Given the description of an element on the screen output the (x, y) to click on. 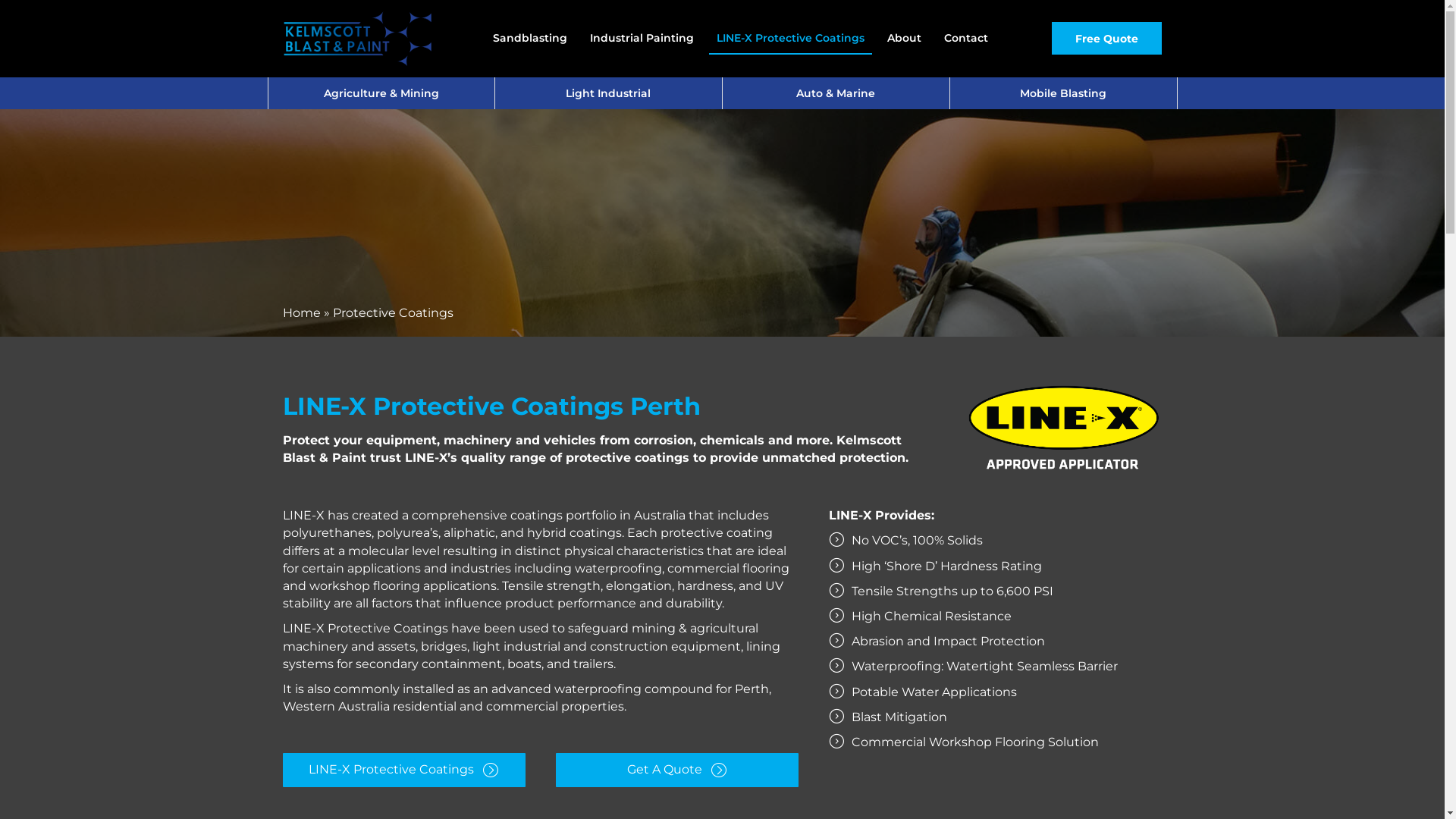
About Element type: text (903, 37)
Mobile Blasting Element type: text (1062, 93)
Sandblasting Element type: text (529, 37)
LINE-X Approved Applicator White Element type: hover (1062, 429)
LINE-X Protective Coatings Element type: text (790, 37)
LINE-X Protective Coatings Element type: text (403, 770)
Get A Quote Element type: text (676, 770)
Kelmscott Blast and Paint_logo Element type: hover (357, 38)
Light Industrial Element type: text (607, 93)
Auto & Marine Element type: text (835, 93)
Home Element type: text (301, 312)
Industrial Painting Element type: text (641, 37)
Agriculture & Mining Element type: text (380, 93)
Contact Element type: text (965, 37)
Free Quote Element type: text (1106, 38)
